Given the description of an element on the screen output the (x, y) to click on. 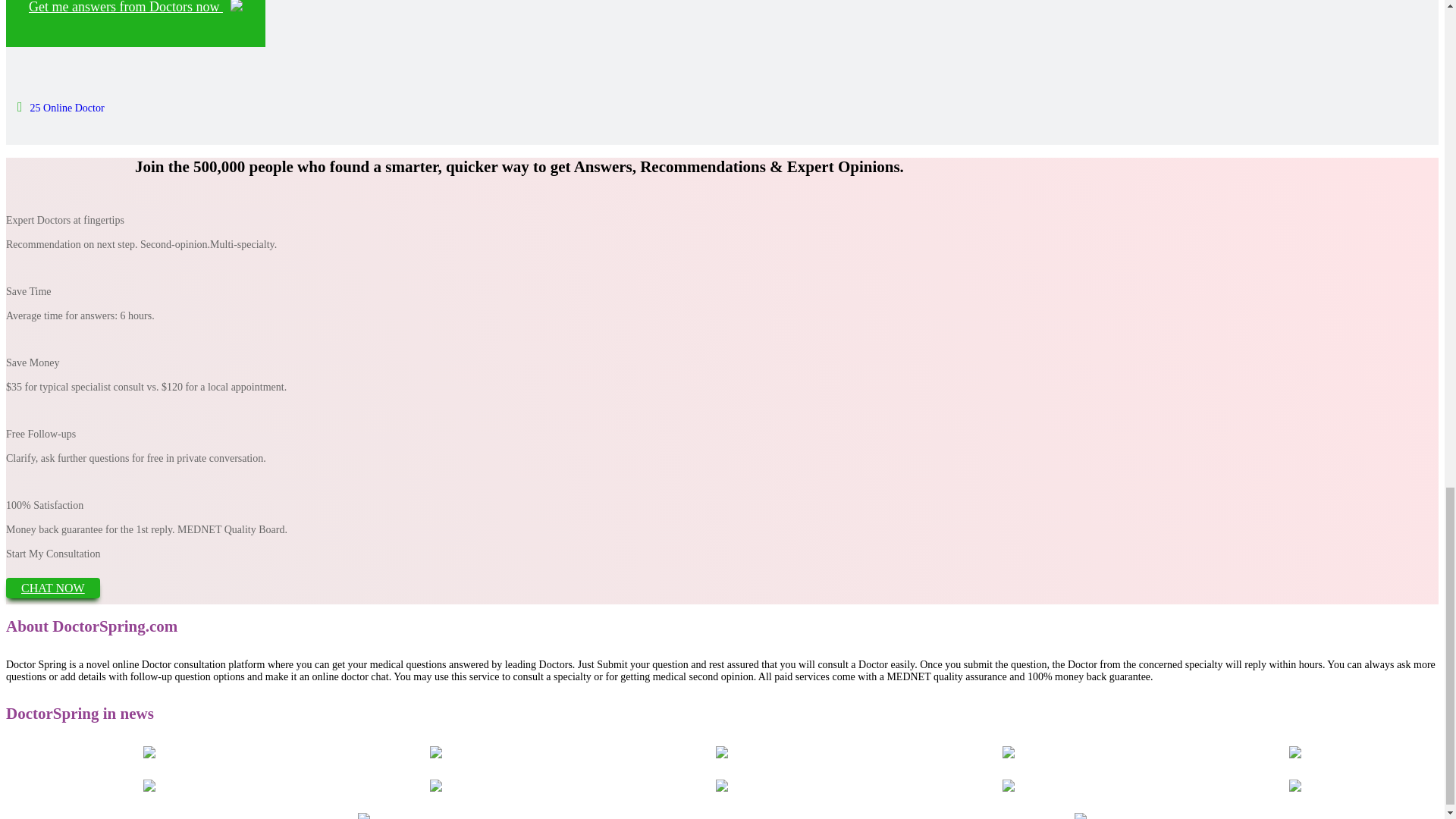
Get me answers from Doctors now (134, 23)
CHAT NOW (52, 588)
25 Online Doctor (60, 107)
Ask a Doctor now (134, 23)
